Given the description of an element on the screen output the (x, y) to click on. 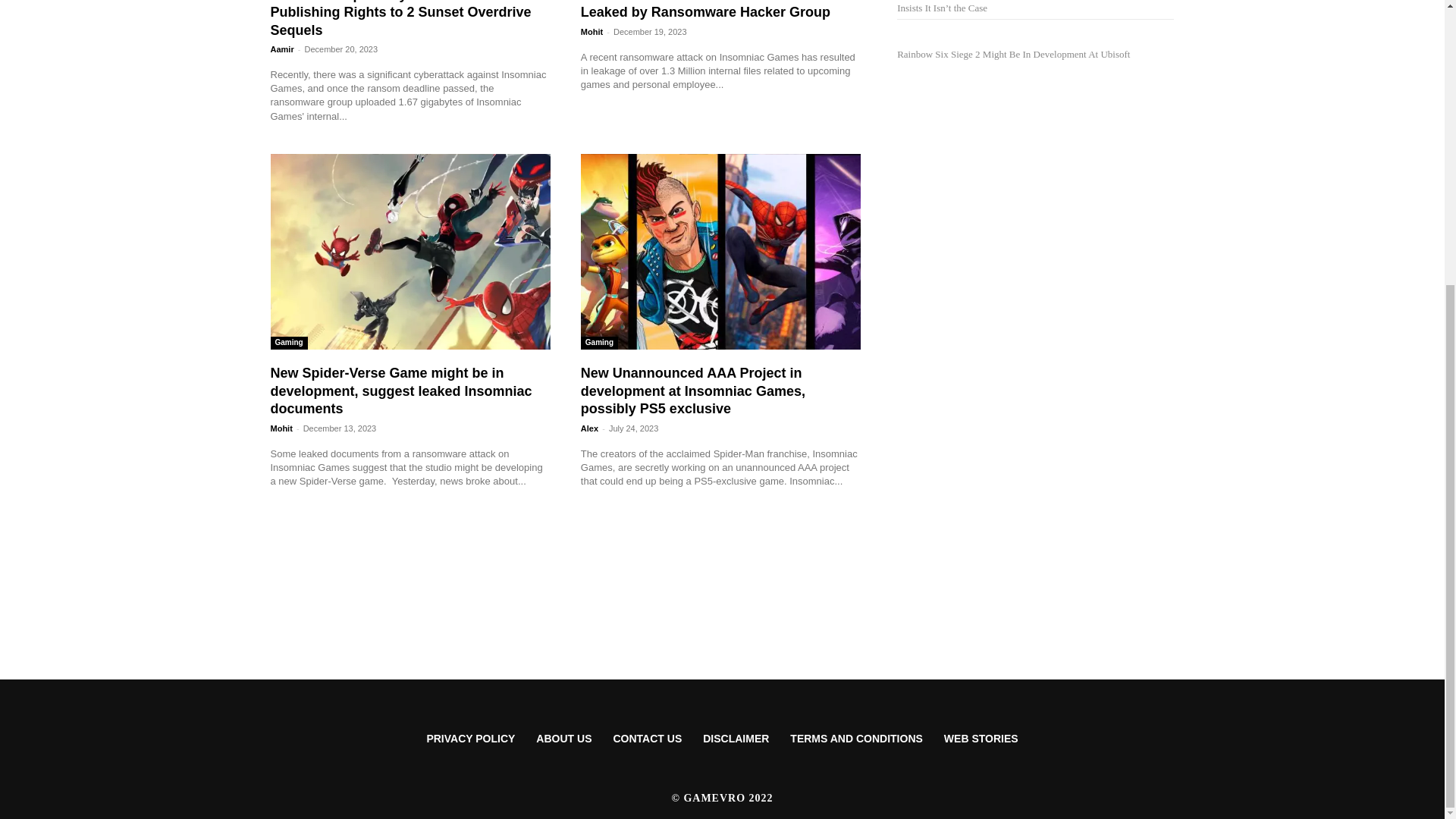
CONTACT US (647, 738)
Gaming (598, 342)
Alex (589, 428)
ABOUT US (563, 738)
Aamir (281, 49)
Rainbow Six Siege 2 Might Be In Development At Ubisoft (1012, 53)
Mohit (280, 428)
Mohit (591, 31)
